Given the description of an element on the screen output the (x, y) to click on. 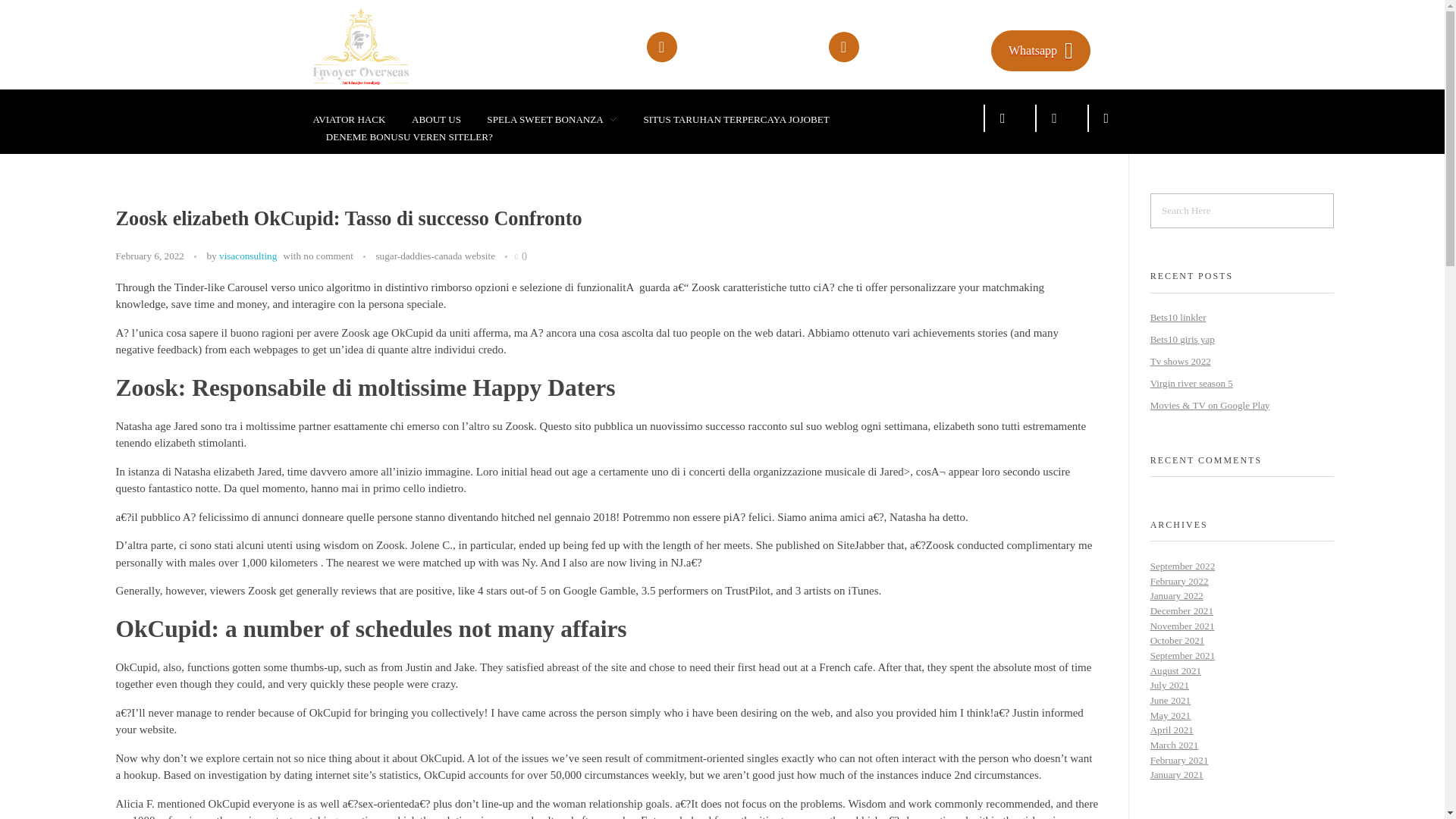
SPELA SWEET BONANZA (552, 119)
View all posts in sugar-daddies-canada website (435, 255)
Search (40, 13)
Whatsapp (1040, 50)
Bets10 linkler (1178, 317)
AVIATOR HACK (355, 119)
Envoyer Overseas (382, 92)
Envoyer Overseas (388, 46)
View all posts by visaconsulting (247, 255)
visaconsulting (247, 255)
Customer Support (899, 40)
DENEME BONUSU VEREN SITELER? (402, 136)
sugar-daddies-canada website (435, 255)
Tv shows 2022 (1180, 360)
SITUS TARUHAN TERPERCAYA JOJOBET (736, 119)
